Given the description of an element on the screen output the (x, y) to click on. 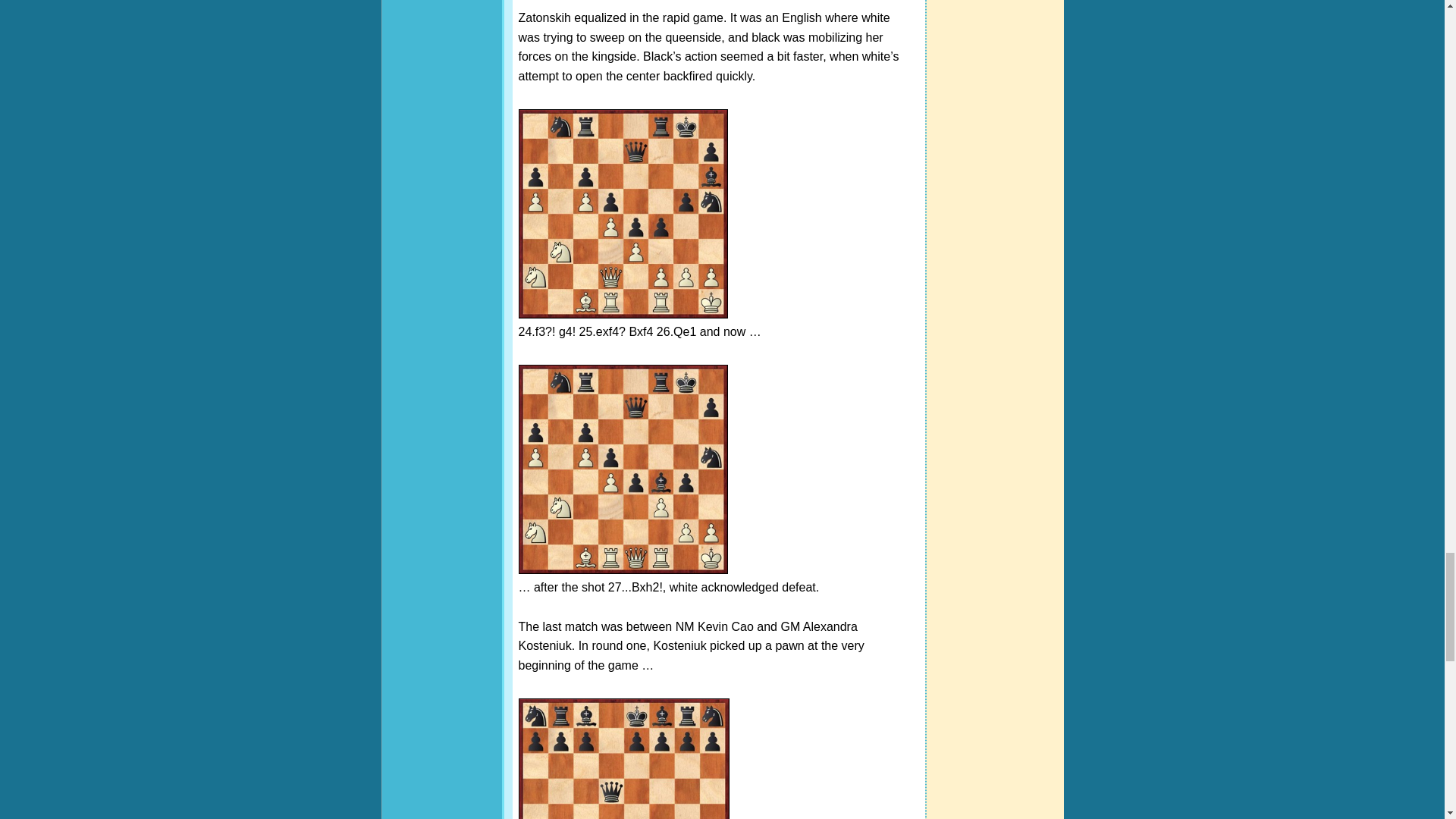
CaoKosteniuk.jpg (623, 758)
ArnoldZatonskih2.jpg (623, 469)
ArnoldZatonskih1.jpg (623, 213)
